Given the description of an element on the screen output the (x, y) to click on. 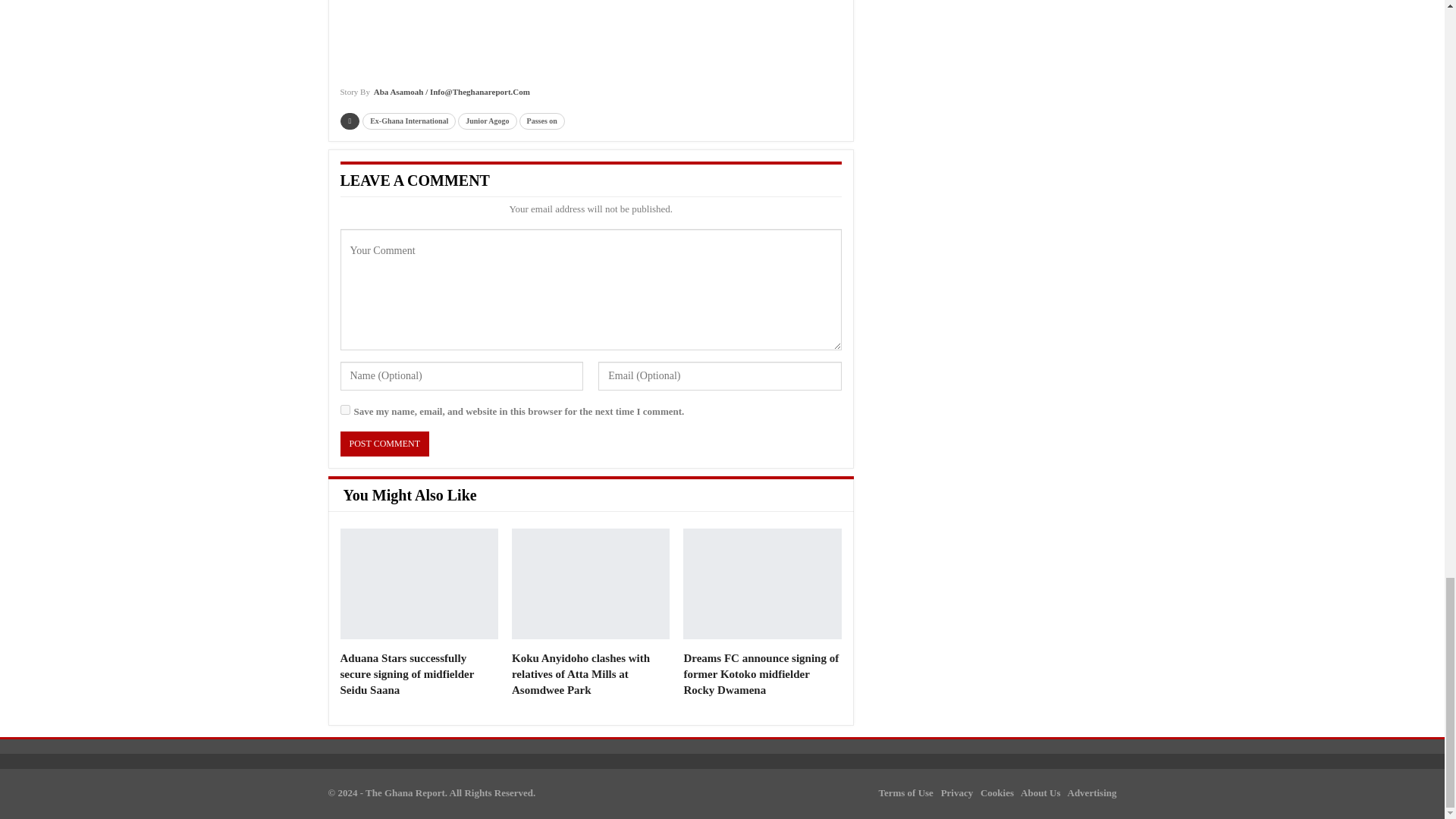
Passes on (541, 121)
Post Comment (383, 443)
Browse Author Articles (434, 97)
yes (344, 409)
Junior Agogo (487, 121)
Ex-Ghana International (408, 121)
